Given the description of an element on the screen output the (x, y) to click on. 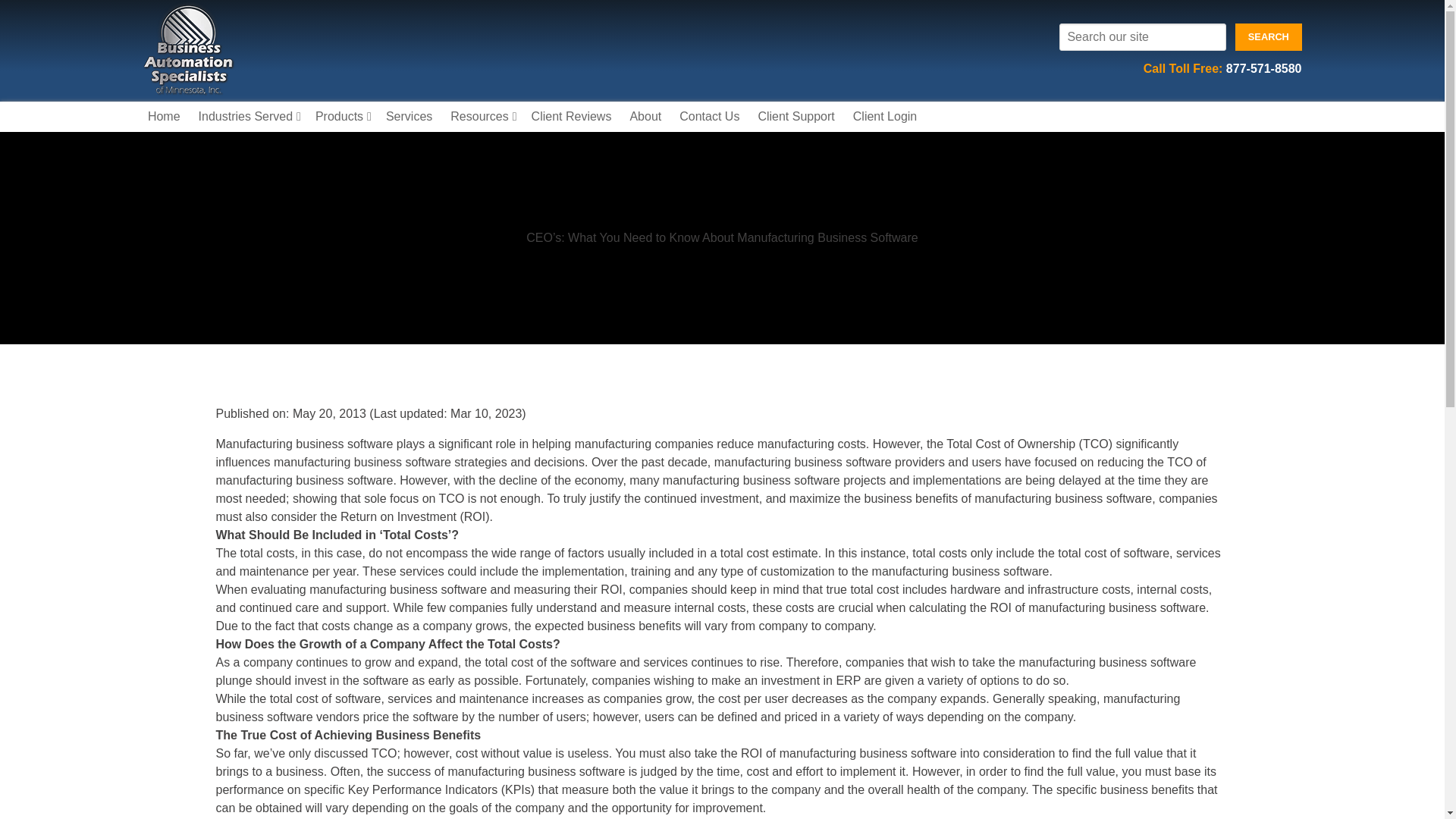
Resources (481, 116)
Products (341, 116)
877-571-8580 (1263, 68)
March 10, 2023 (448, 413)
May 20, 2013 (329, 413)
Search (1267, 36)
Industries Served (247, 116)
Home (163, 116)
Search (1267, 36)
Services (409, 116)
